Given the description of an element on the screen output the (x, y) to click on. 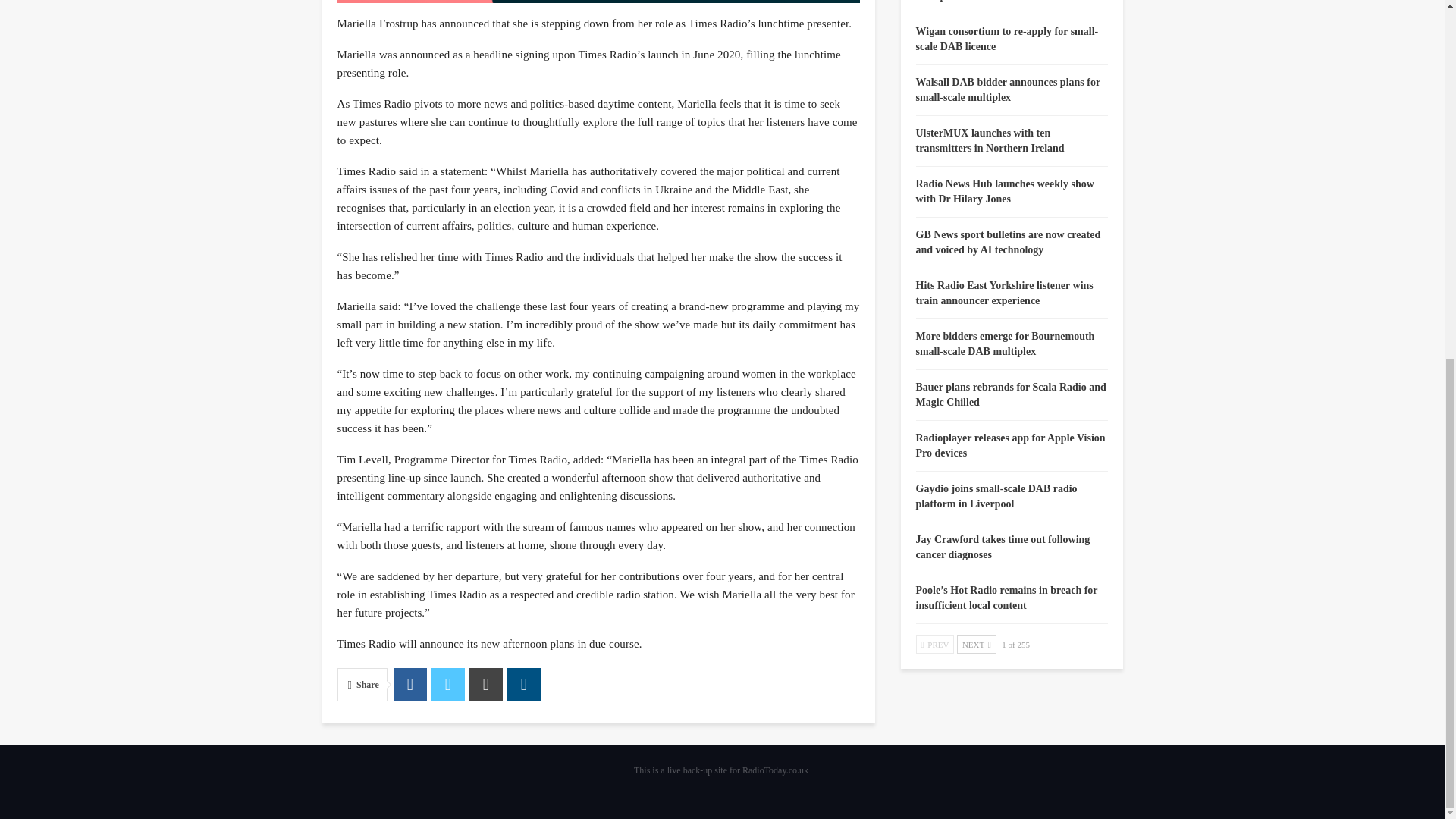
Jay Crawford takes time out following cancer diagnoses (1002, 546)
Gaydio joins small-scale DAB radio platform in Liverpool (996, 496)
Previous (935, 644)
PREV (935, 644)
UlsterMUX launches with ten transmitters in Northern Ireland (989, 140)
Radioplayer releases app for Apple Vision Pro devices (1010, 445)
NEXT (975, 644)
Bauer plans rebrands for Scala Radio and Magic Chilled (1010, 394)
Walsall DAB bidder announces plans for small-scale multiplex (1007, 89)
Wigan consortium to re-apply for small-scale DAB licence (1007, 38)
Next (975, 644)
